Given the description of an element on the screen output the (x, y) to click on. 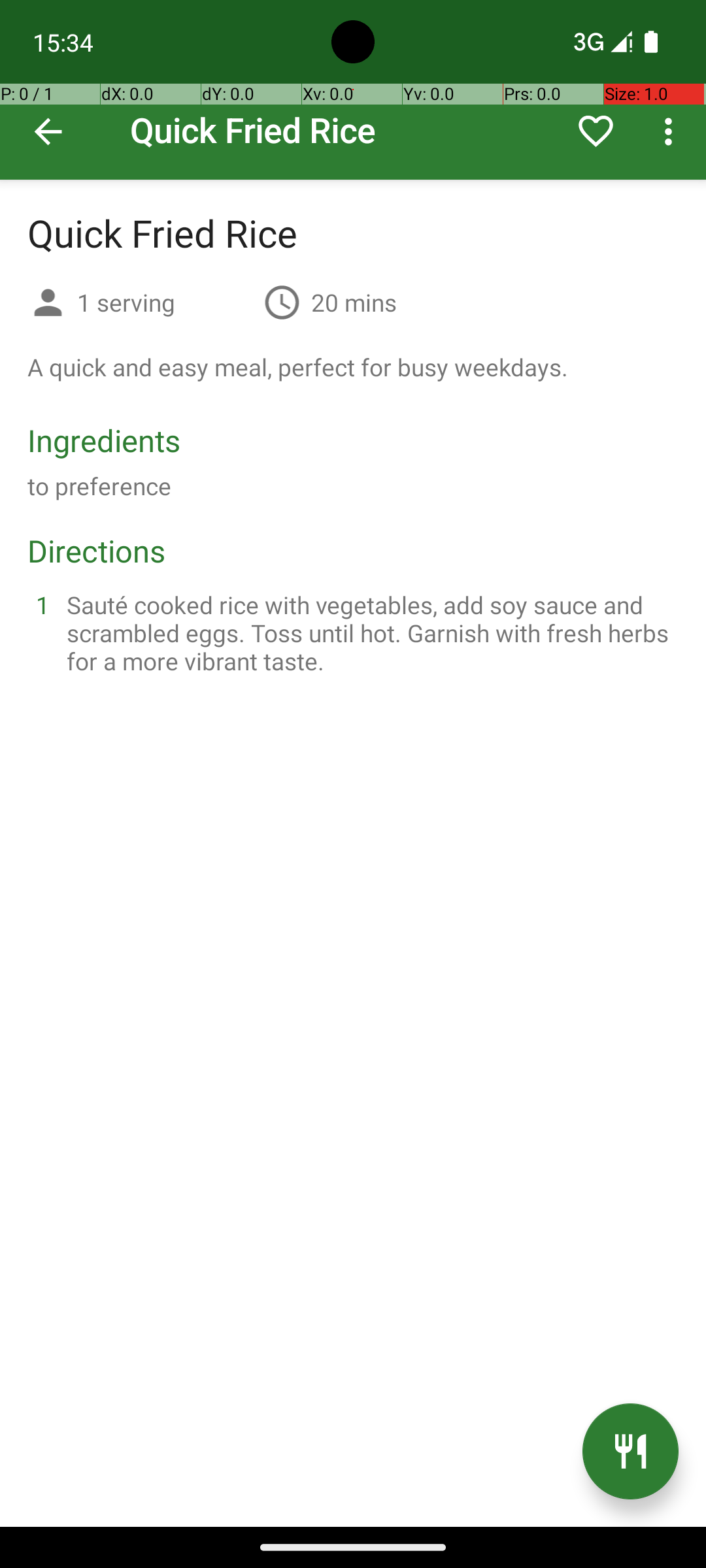
Quick Fried Rice Element type: android.widget.FrameLayout (353, 89)
20 mins Element type: android.widget.TextView (353, 301)
Sauté cooked rice with vegetables, add soy sauce and scrambled eggs. Toss until hot. Garnish with fresh herbs for a more vibrant taste. Element type: android.widget.TextView (368, 632)
